Given the description of an element on the screen output the (x, y) to click on. 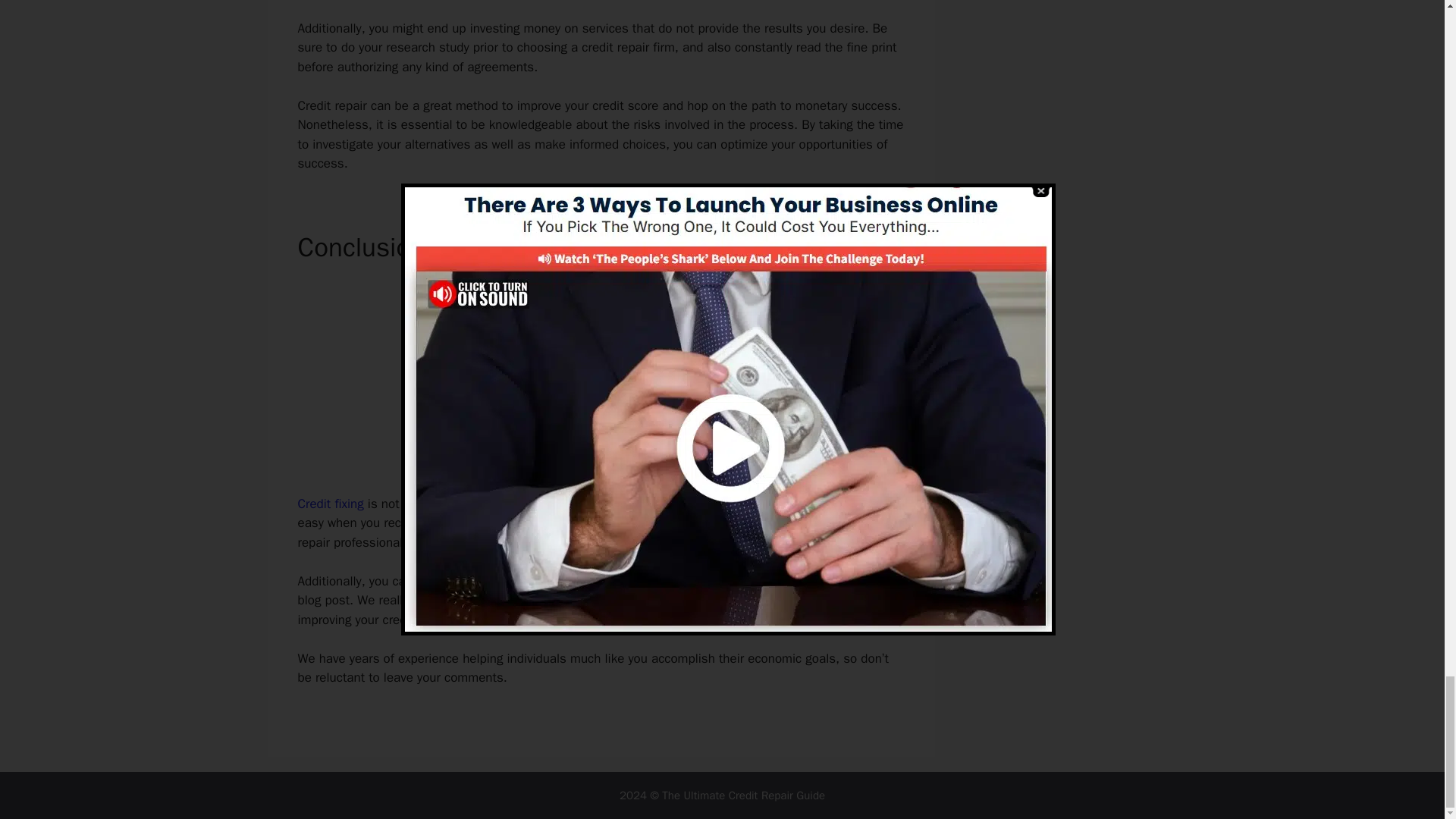
Credit fixing (329, 503)
